Given the description of an element on the screen output the (x, y) to click on. 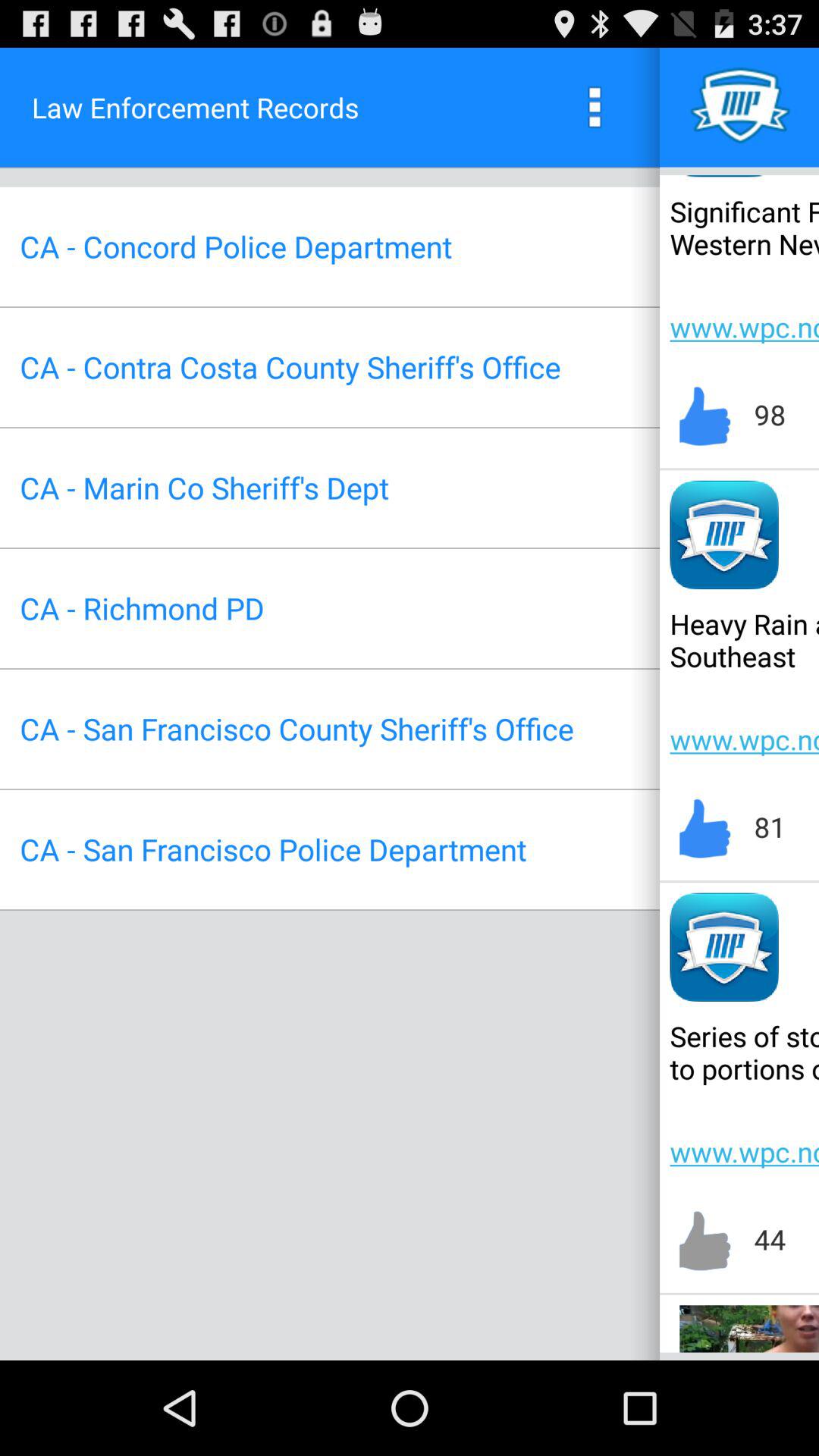
turn on app below ca concord police icon (289, 366)
